Given the description of an element on the screen output the (x, y) to click on. 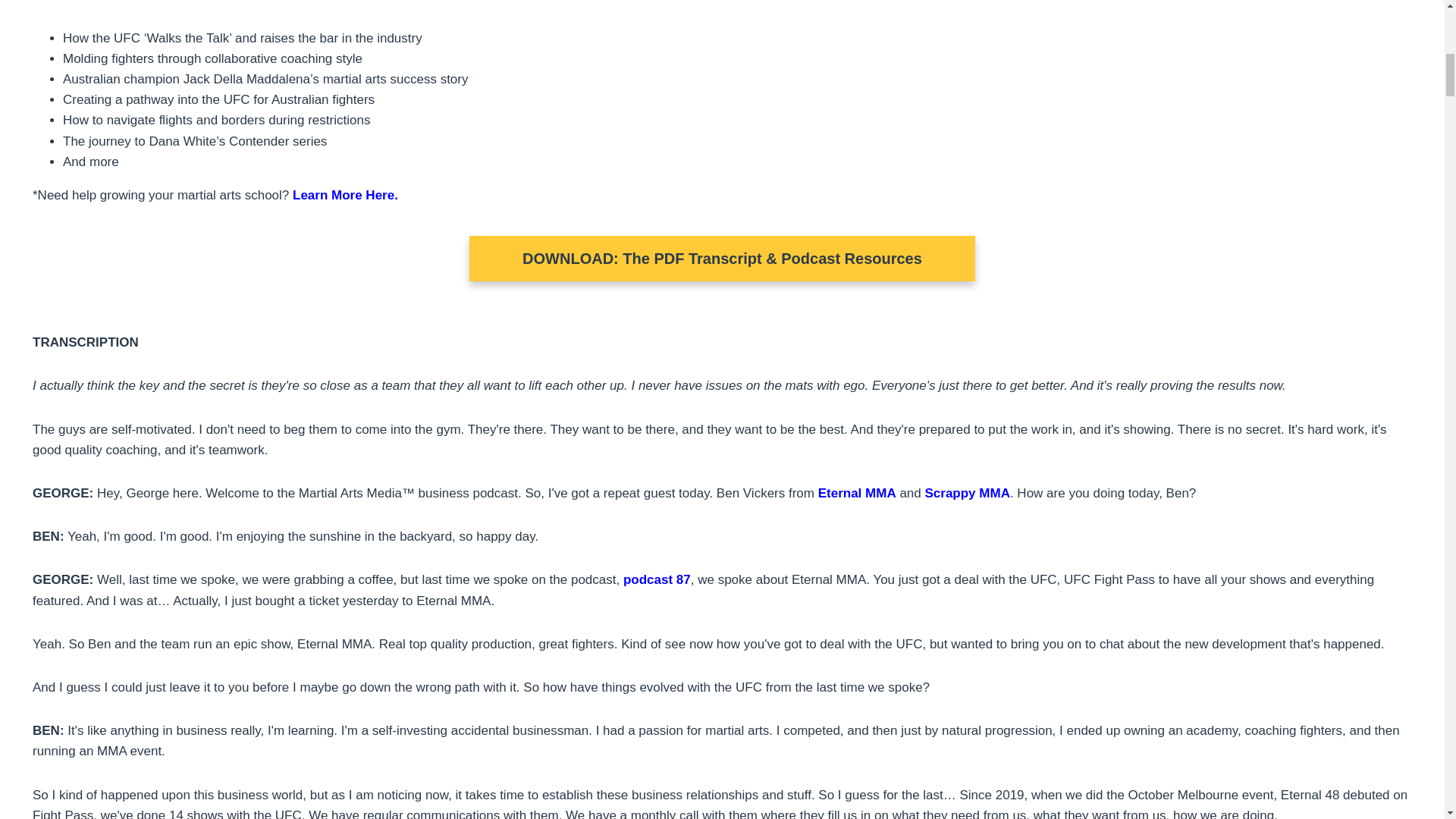
Scrappy MMA (966, 493)
podcast 87 (656, 579)
Eternal MMA (857, 493)
Learn More Here. (344, 195)
